Given the description of an element on the screen output the (x, y) to click on. 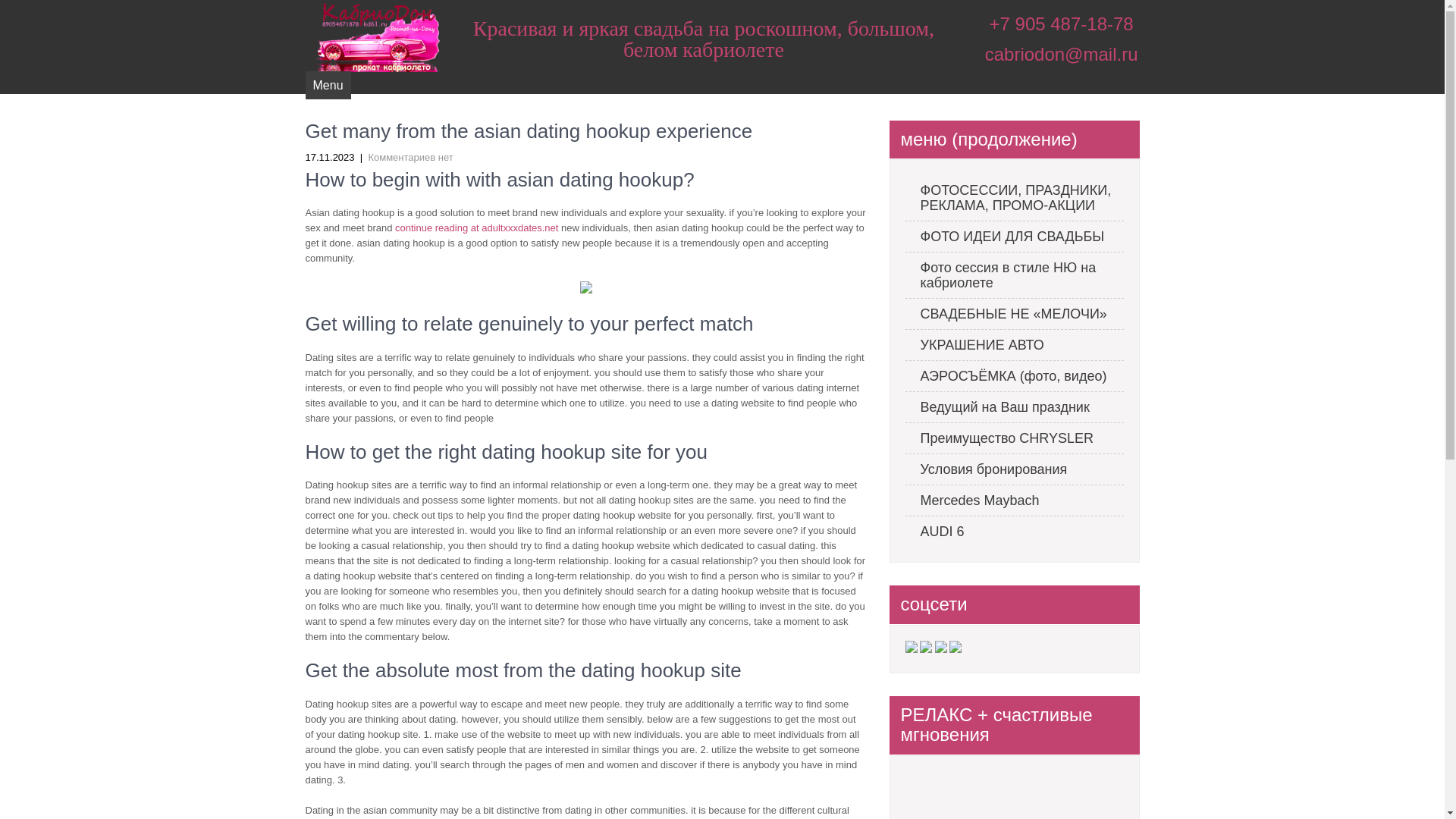
AUDI 6 (1014, 531)
Menu (327, 85)
continue reading at adultxxxdates.net (475, 227)
Mercedes Maybach (1014, 500)
